Given the description of an element on the screen output the (x, y) to click on. 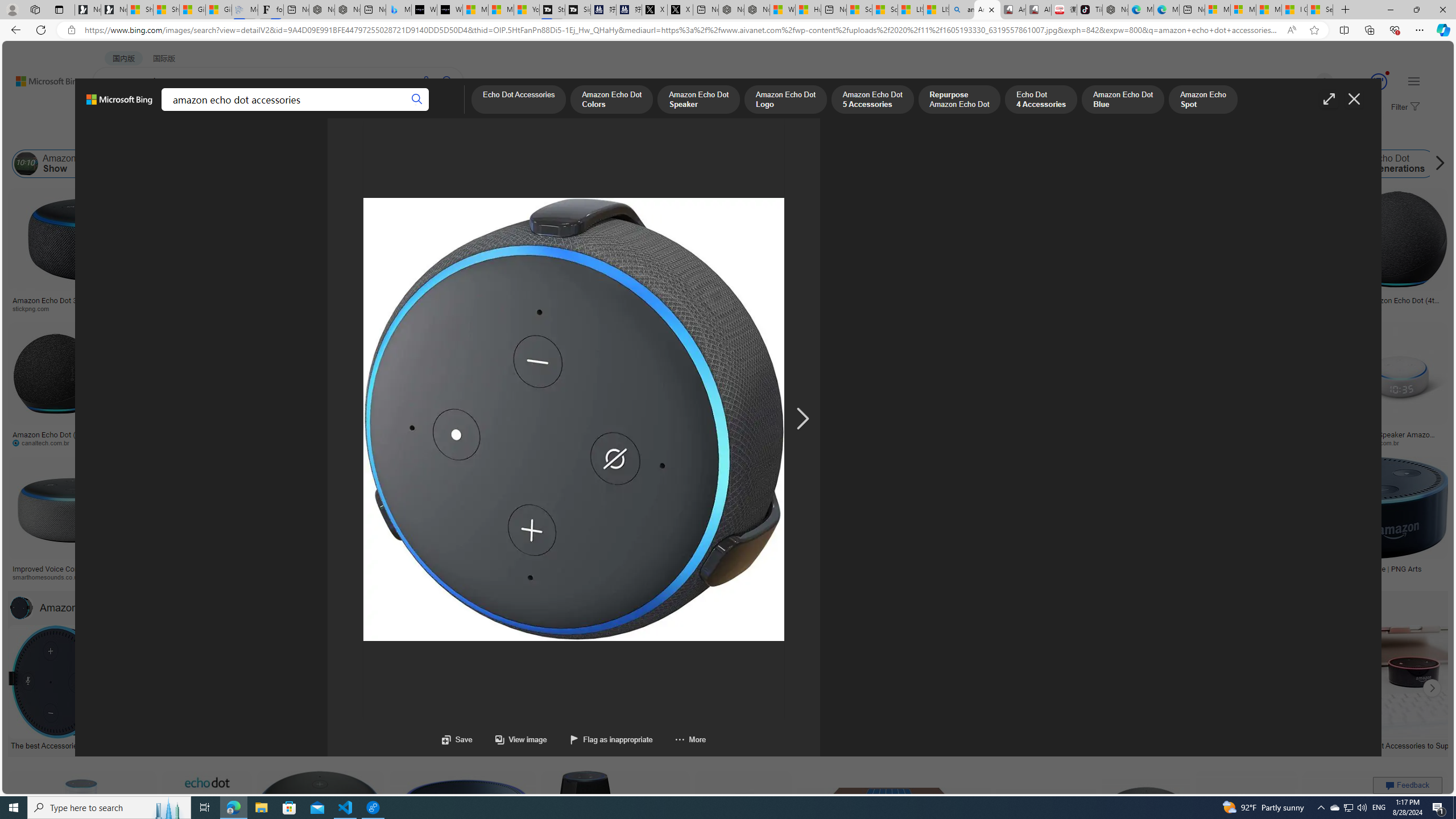
Echo Dot Generations (1388, 163)
Amazon Echo Dot PNG - Search Images (986, 9)
All Cubot phones (1037, 9)
Nordace - #1 Japanese Best-Seller - Siena Smart Backpack (347, 9)
pngarts.com (1366, 576)
Amazon Echo Dot Logo (949, 163)
